Given the description of an element on the screen output the (x, y) to click on. 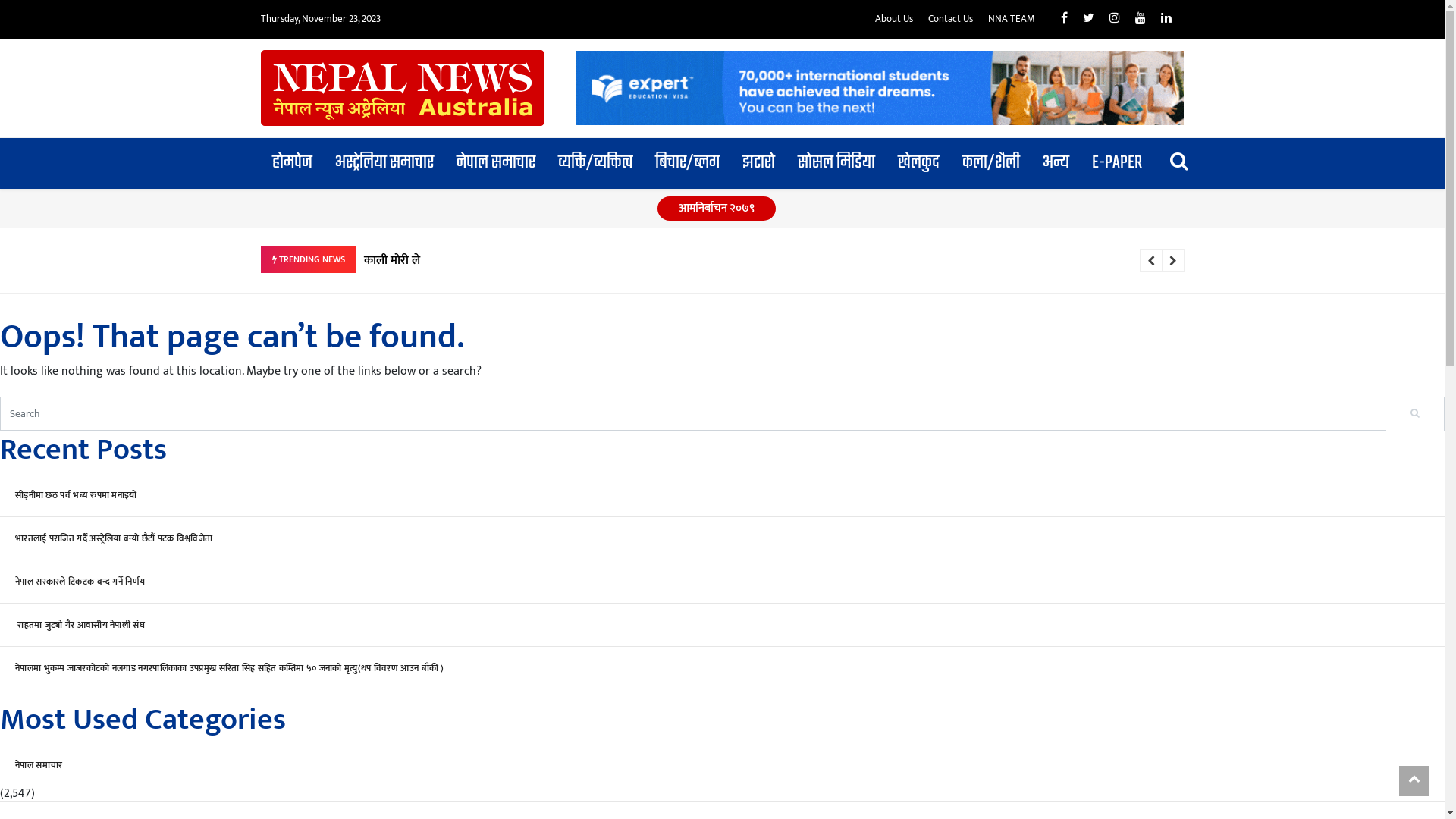
E-PAPER Element type: text (1116, 163)
Contact Us Element type: text (950, 18)
About Us Element type: text (894, 18)
NNA TEAM Element type: text (1011, 18)
